Given the description of an element on the screen output the (x, y) to click on. 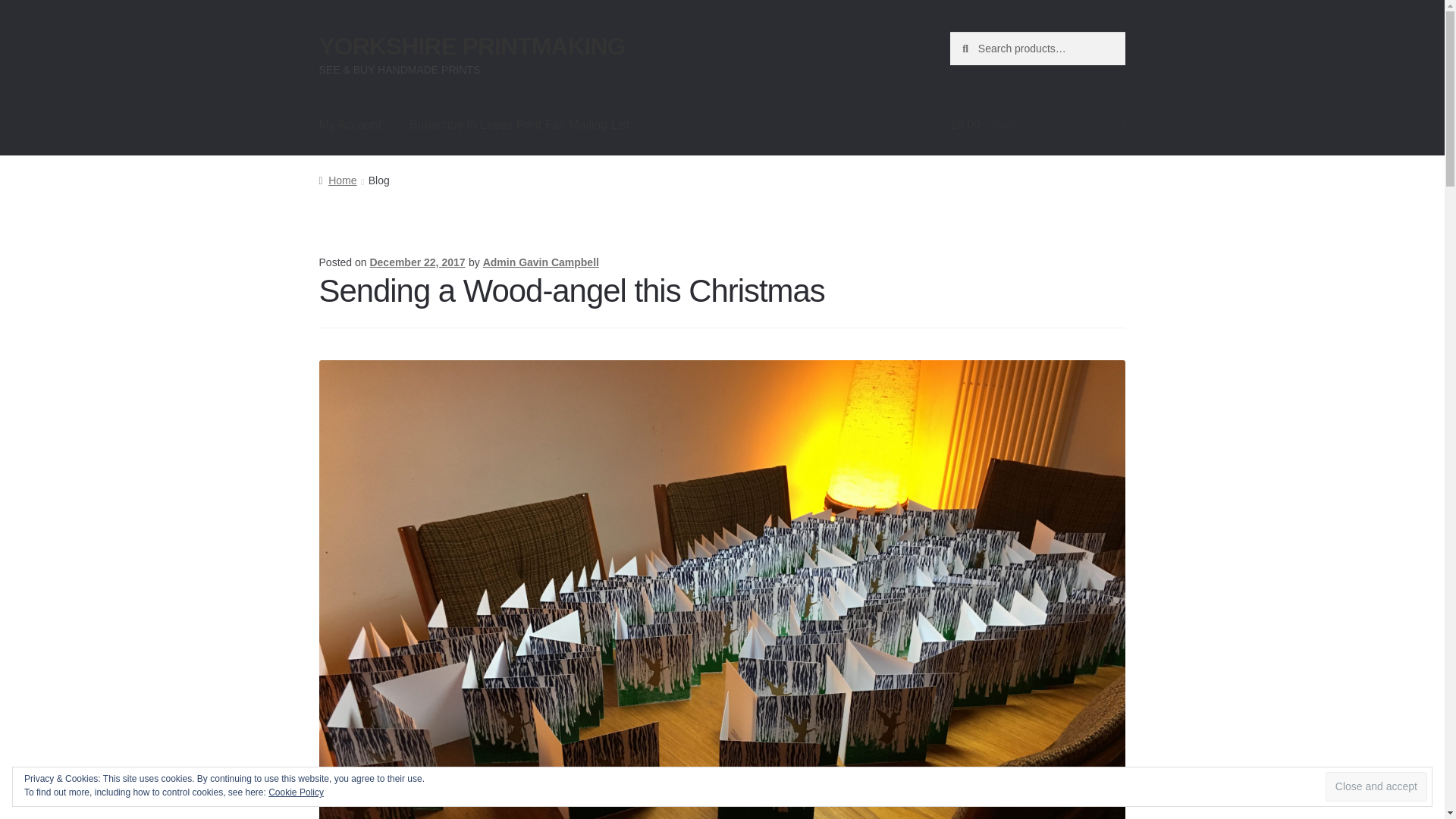
YORKSHIRE PRINTMAKING (472, 45)
Home (337, 180)
December 22, 2017 (416, 262)
My Account (350, 124)
Close and accept (1375, 786)
Subscribe to Leeds Print Fair Mailing List (519, 124)
View your shopping basket (1037, 124)
Admin Gavin Campbell (540, 262)
